Given the description of an element on the screen output the (x, y) to click on. 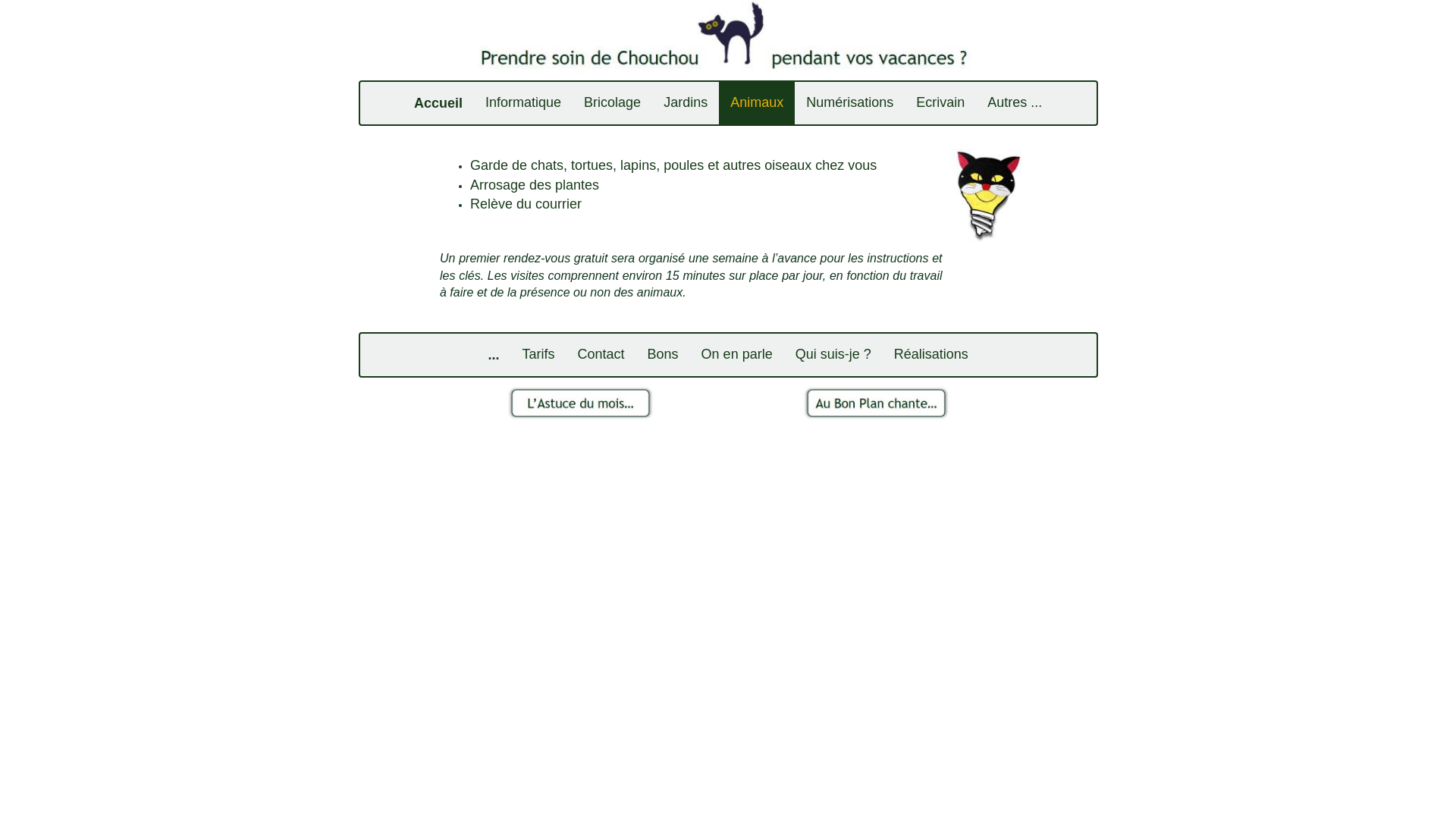
Qui suis-je ? Element type: text (833, 354)
Ecrivain Element type: text (939, 102)
Jardins Element type: text (685, 102)
On en parle Element type: text (737, 354)
Accueil Element type: text (437, 102)
Tarifs Element type: text (538, 354)
Bons Element type: text (663, 354)
... Element type: text (493, 354)
Animaux Element type: text (756, 102)
Bricolage Element type: text (612, 102)
Informatique Element type: text (522, 102)
Autres ... Element type: text (1014, 102)
Contact Element type: text (601, 354)
